Given the description of an element on the screen output the (x, y) to click on. 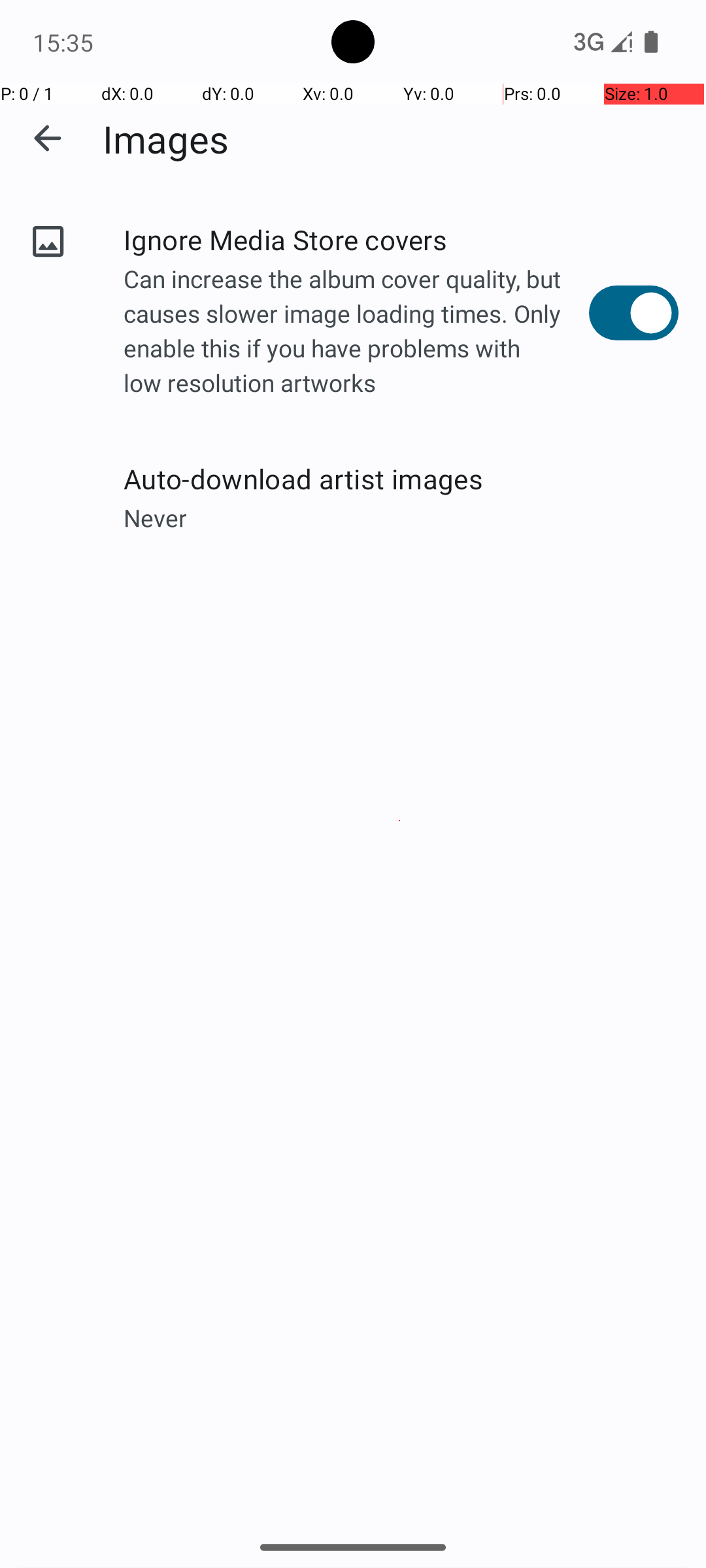
Ignore Media Store covers Element type: android.widget.TextView (355, 239)
Can increase the album cover quality, but causes slower image loading times. Only enable this if you have problems with low resolution artworks Element type: android.widget.TextView (355, 333)
Auto-download artist images Element type: android.widget.TextView (400, 478)
Never Element type: android.widget.TextView (400, 517)
